Given the description of an element on the screen output the (x, y) to click on. 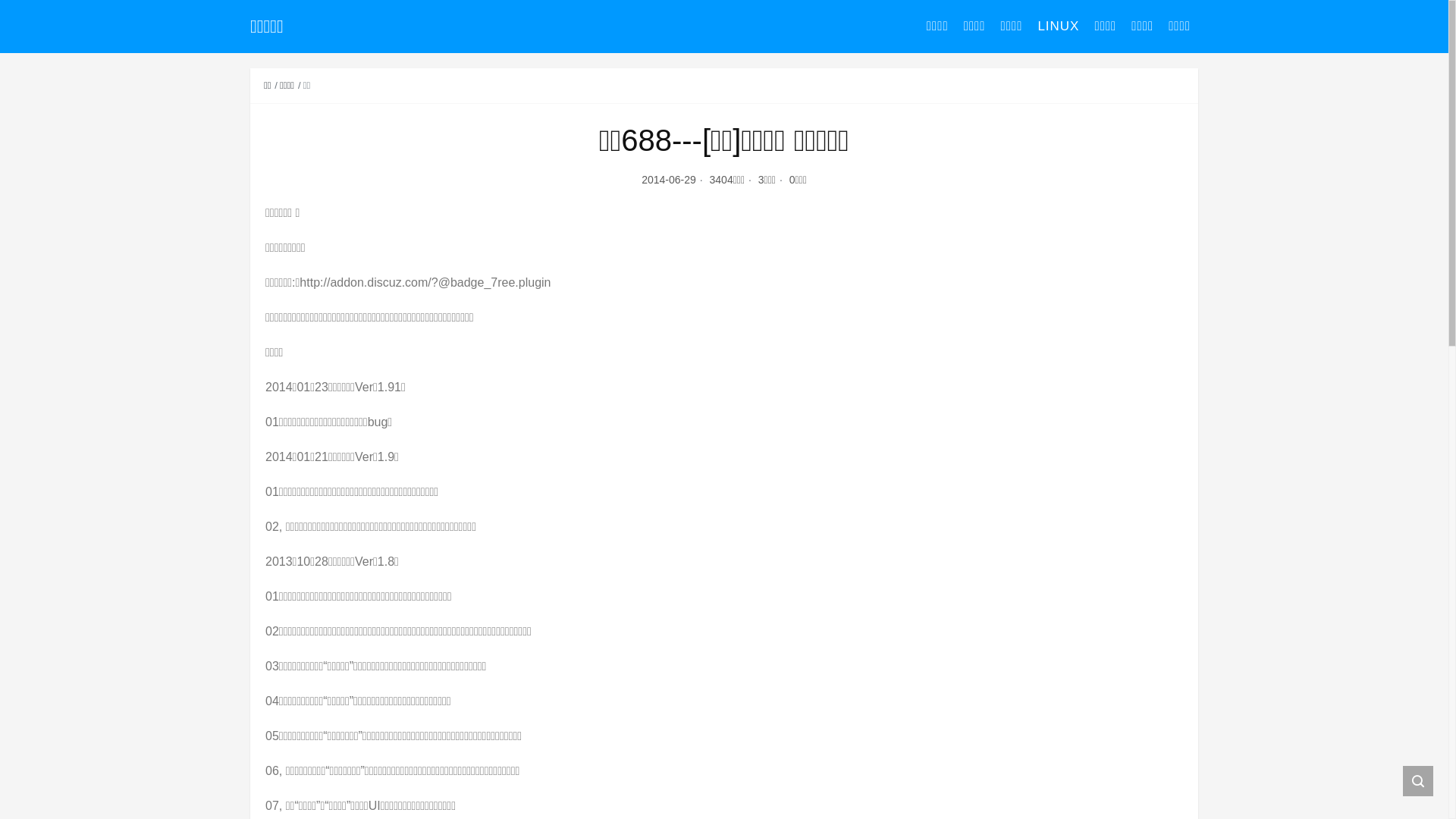
LINUX Element type: text (1057, 26)
